Given the description of an element on the screen output the (x, y) to click on. 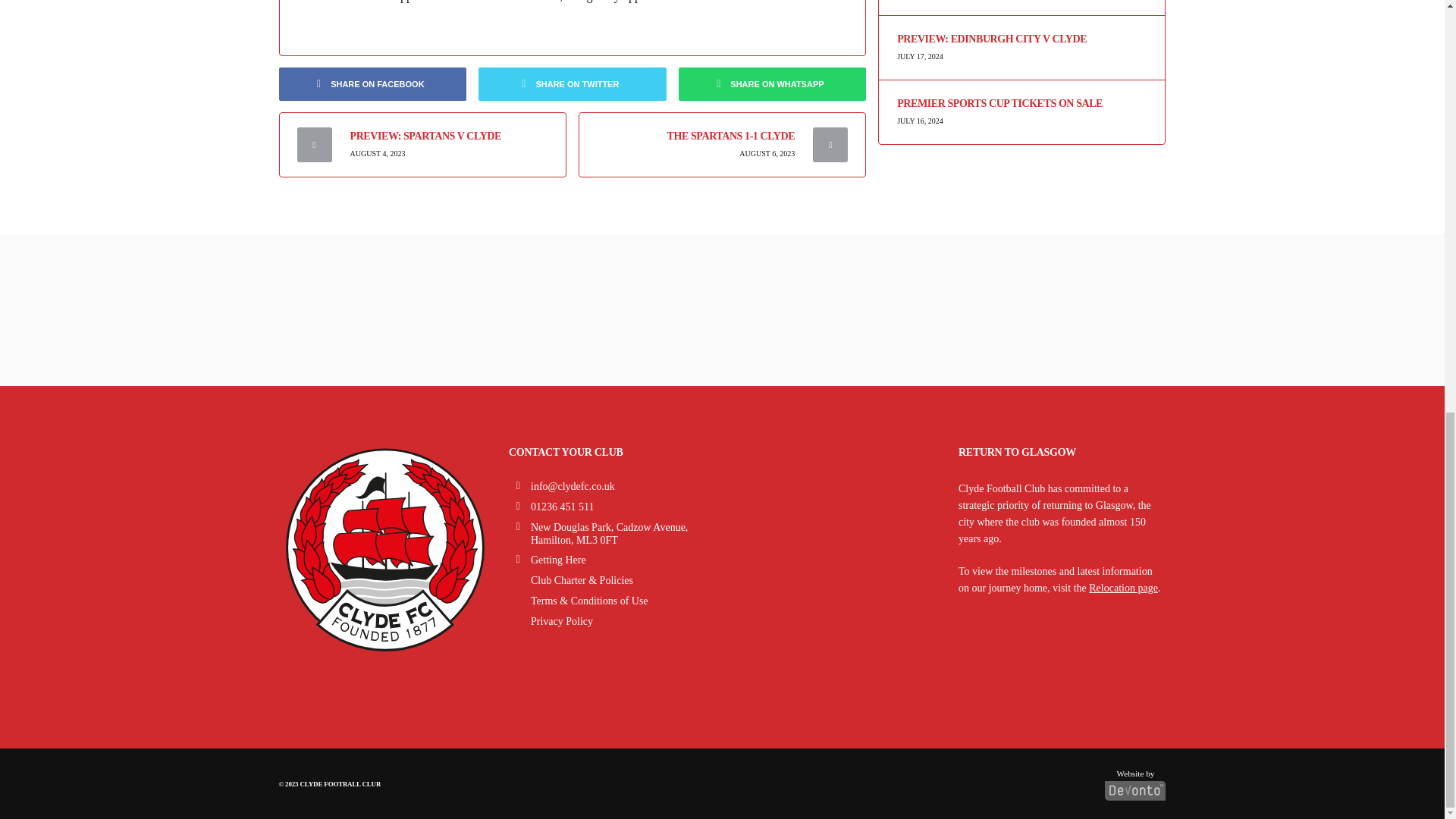
PREVIEW: Edinburgh City v Clyde (1021, 39)
Premier Sports Cup Tickets On Sale (1021, 103)
Devonto Web Design Cumbernauld (1135, 781)
